Given the description of an element on the screen output the (x, y) to click on. 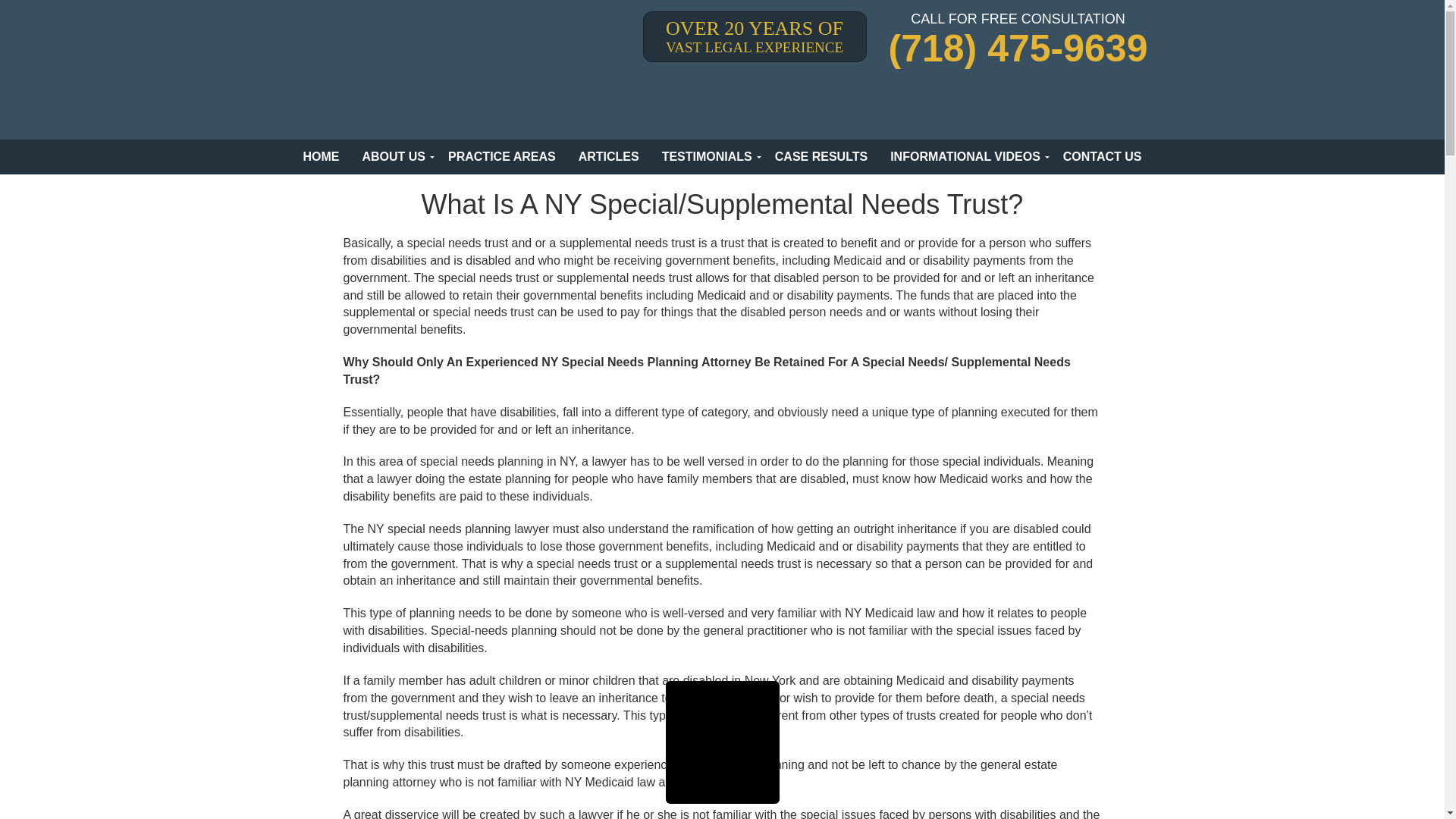
CASE RESULTS (820, 156)
INFORMATIONAL VIDEOS (965, 156)
CONTACT US (1102, 156)
TESTIMONIALS (706, 156)
ABOUT US (393, 156)
ARTICLES (608, 156)
HOME (320, 156)
PRACTICE AREAS (501, 156)
